Given the description of an element on the screen output the (x, y) to click on. 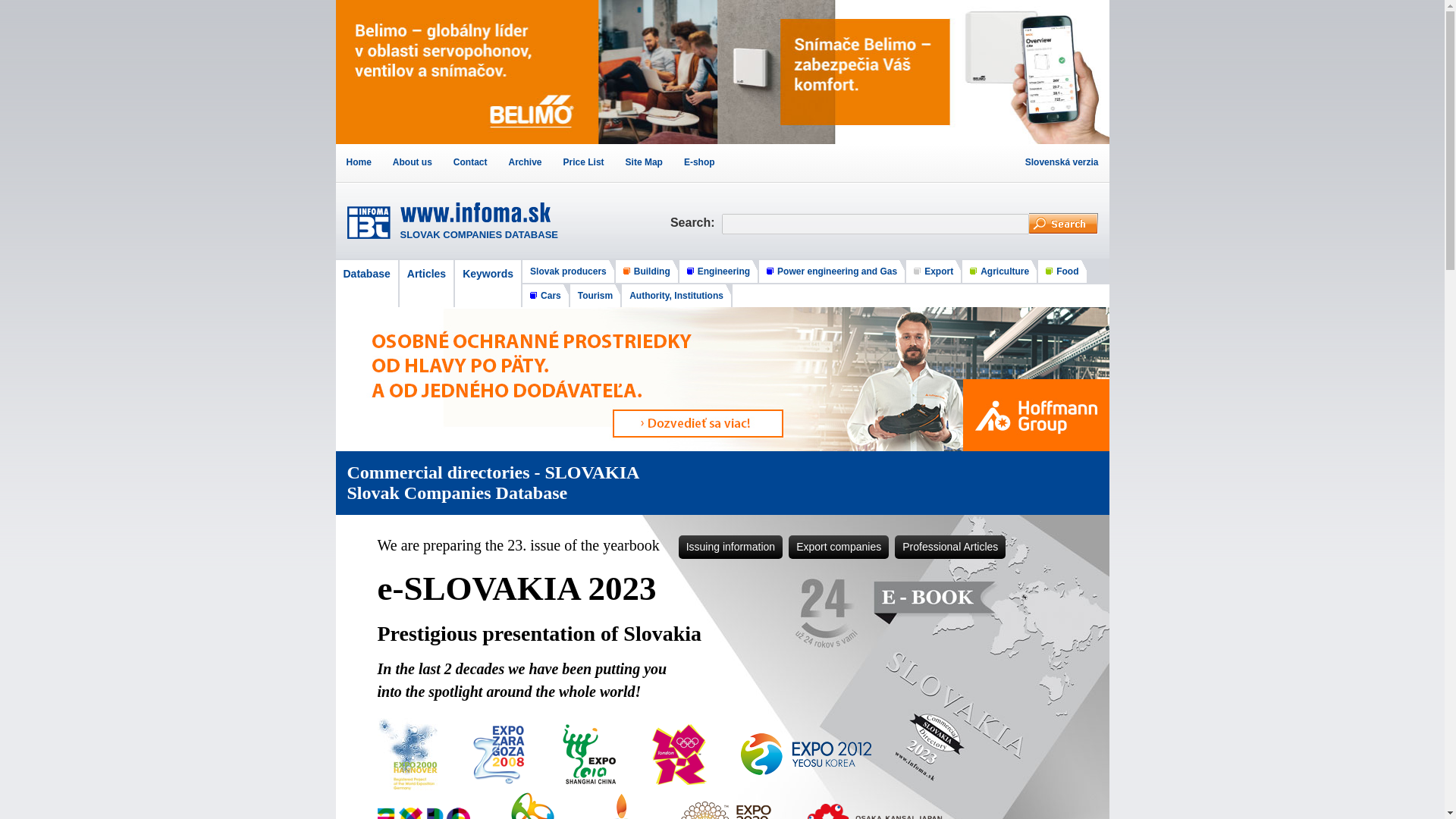
Agriculture (999, 271)
Articles (426, 282)
Archive PDF files (525, 162)
Price List (583, 162)
Export companies (838, 546)
Tourism (595, 295)
INFOMA - about us (411, 162)
Home (357, 162)
Archive (525, 162)
Site Map (643, 162)
Export (933, 271)
Contact (469, 162)
Building (646, 271)
Cars (544, 295)
E-shop (698, 162)
